Given the description of an element on the screen output the (x, y) to click on. 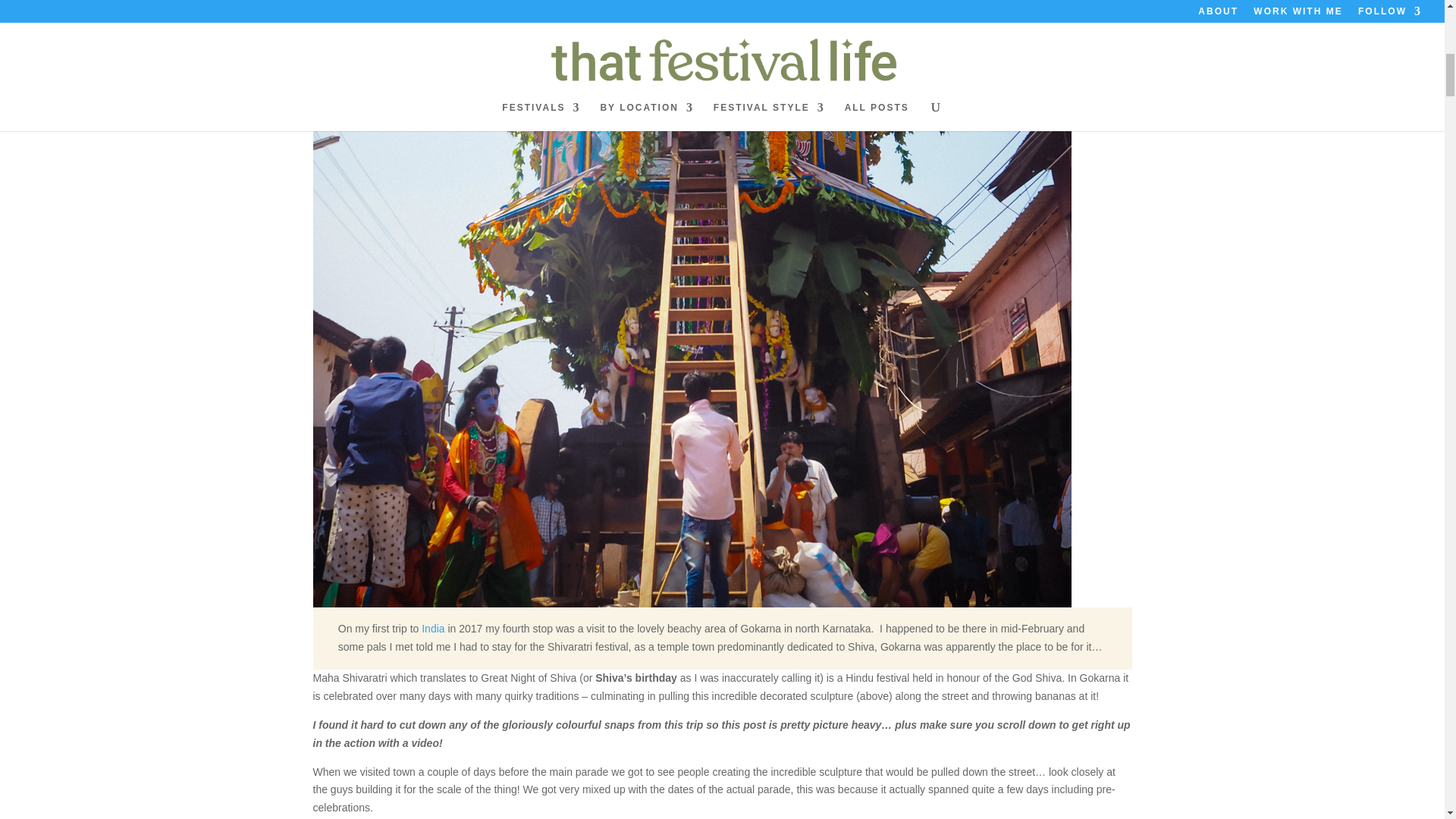
India (433, 628)
